Given the description of an element on the screen output the (x, y) to click on. 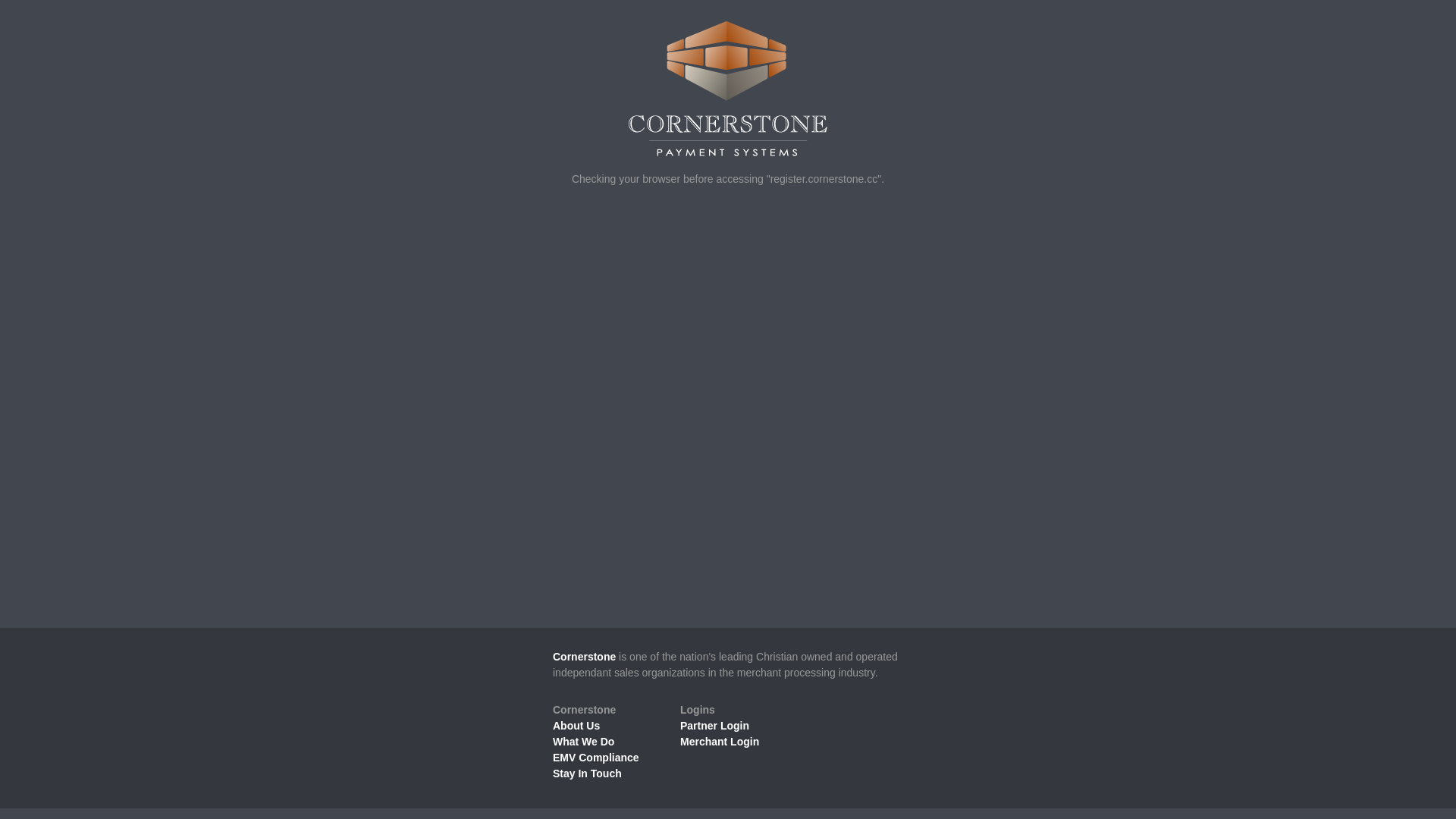
EMV Compliance Element type: text (595, 757)
What We Do Element type: text (583, 741)
Partner Login Element type: text (714, 725)
Stay In Touch Element type: text (586, 773)
About Us Element type: text (575, 725)
Cornerstone Element type: text (583, 656)
Merchant Login Element type: text (719, 741)
